Given the description of an element on the screen output the (x, y) to click on. 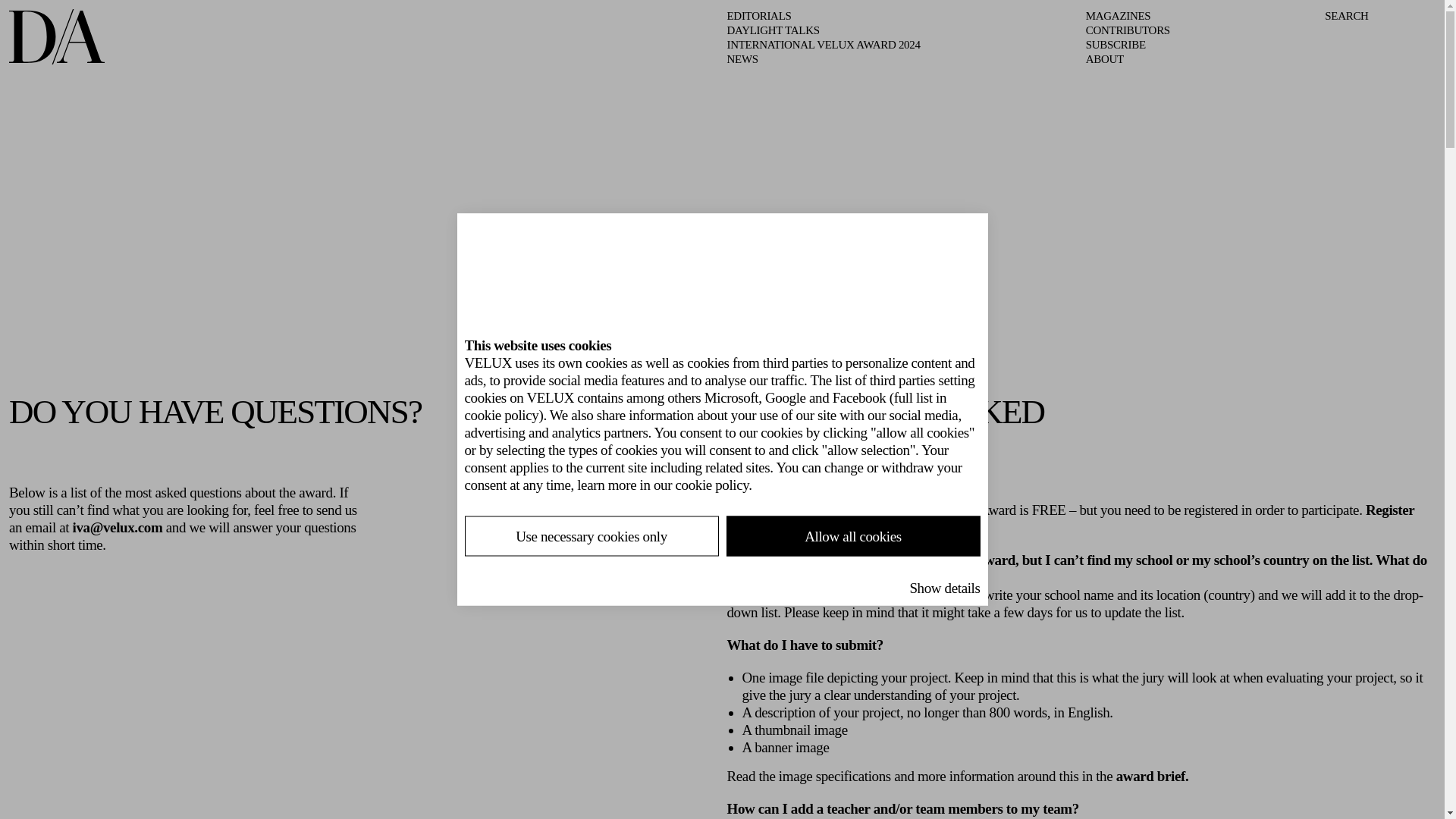
Allow all cookies (852, 536)
Use necessary cookies only (591, 536)
Show details (943, 587)
